Given the description of an element on the screen output the (x, y) to click on. 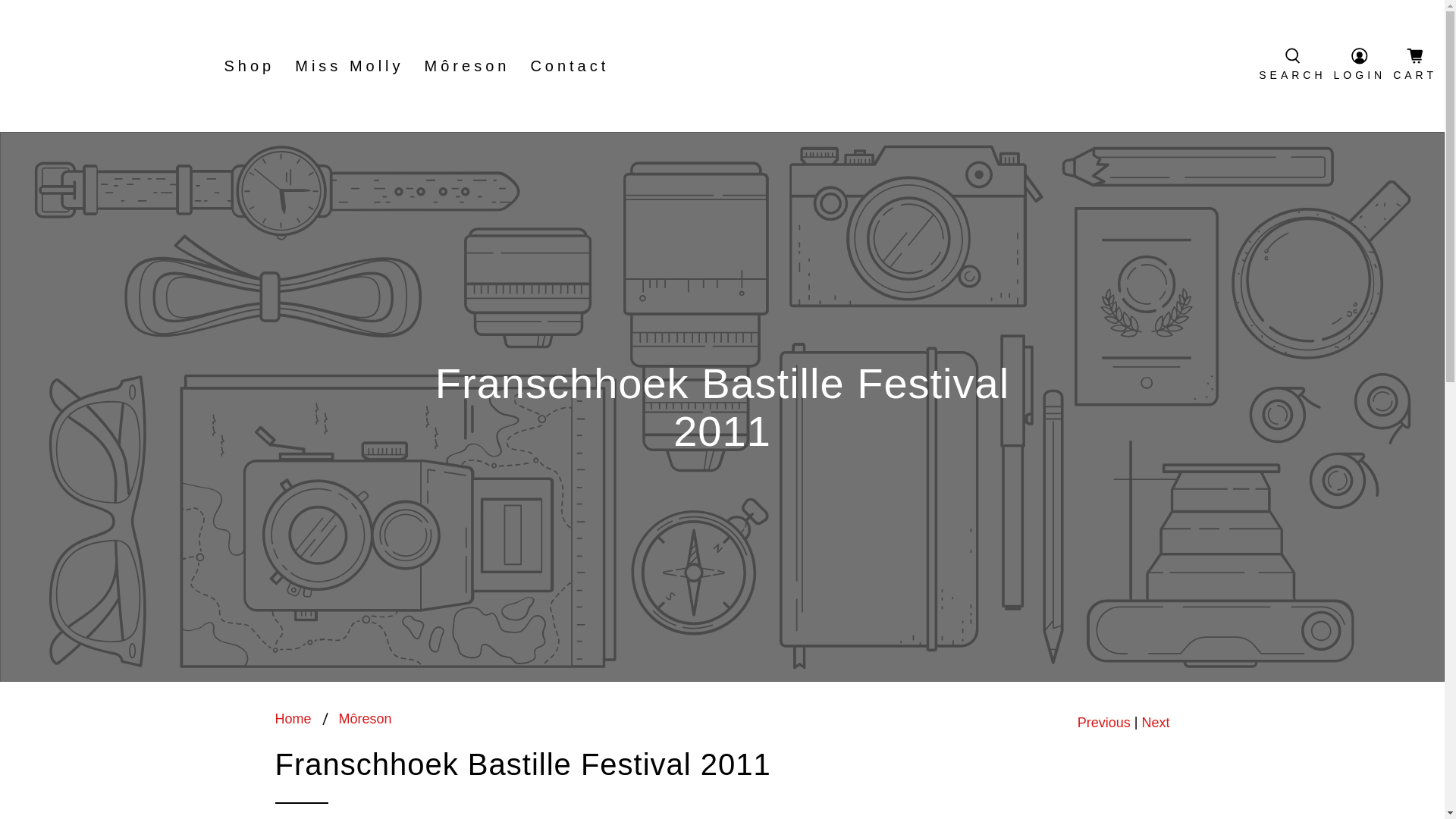
CART (1415, 65)
Next (1155, 722)
Miss Molly (349, 65)
Next (1155, 722)
Previous (1104, 722)
Previous (1104, 722)
Shop (249, 65)
Contact (569, 65)
Home (293, 718)
